Given the description of an element on the screen output the (x, y) to click on. 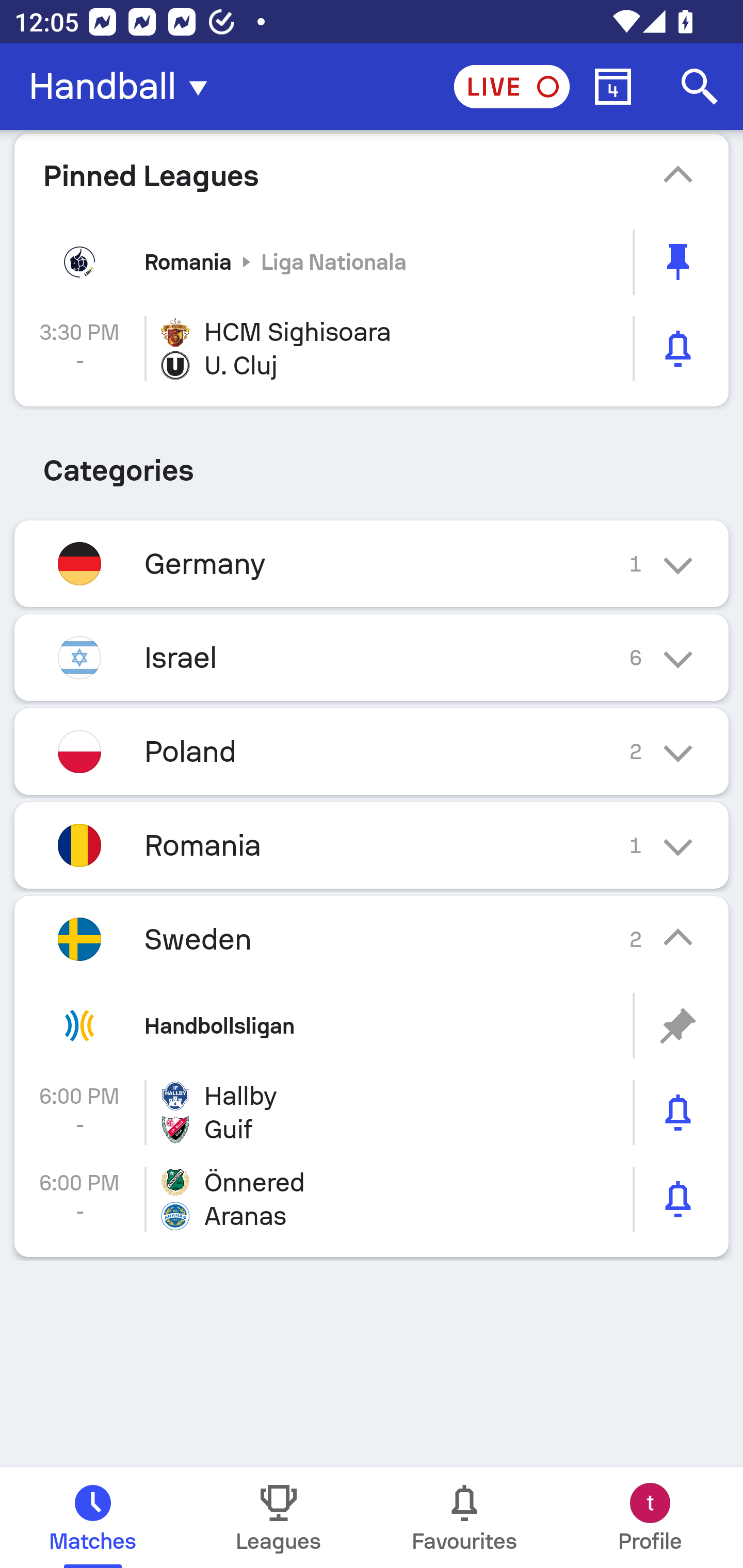
Handball (124, 86)
Calendar (612, 86)
Search (699, 86)
Pinned Leagues (371, 175)
Romania Liga Nationala (371, 261)
3:30 PM - HCM Sighisoara U. Cluj (371, 348)
Categories (371, 463)
Germany 1 (371, 563)
Israel 6 (371, 657)
Poland 2 (371, 751)
Romania 1 (371, 845)
Sweden 2 (371, 939)
Handbollsligan (371, 1026)
6:00 PM - Hallby Guif (371, 1112)
6:00 PM - Önnered Aranas (371, 1198)
Leagues (278, 1517)
Favourites (464, 1517)
Profile (650, 1517)
